Given the description of an element on the screen output the (x, y) to click on. 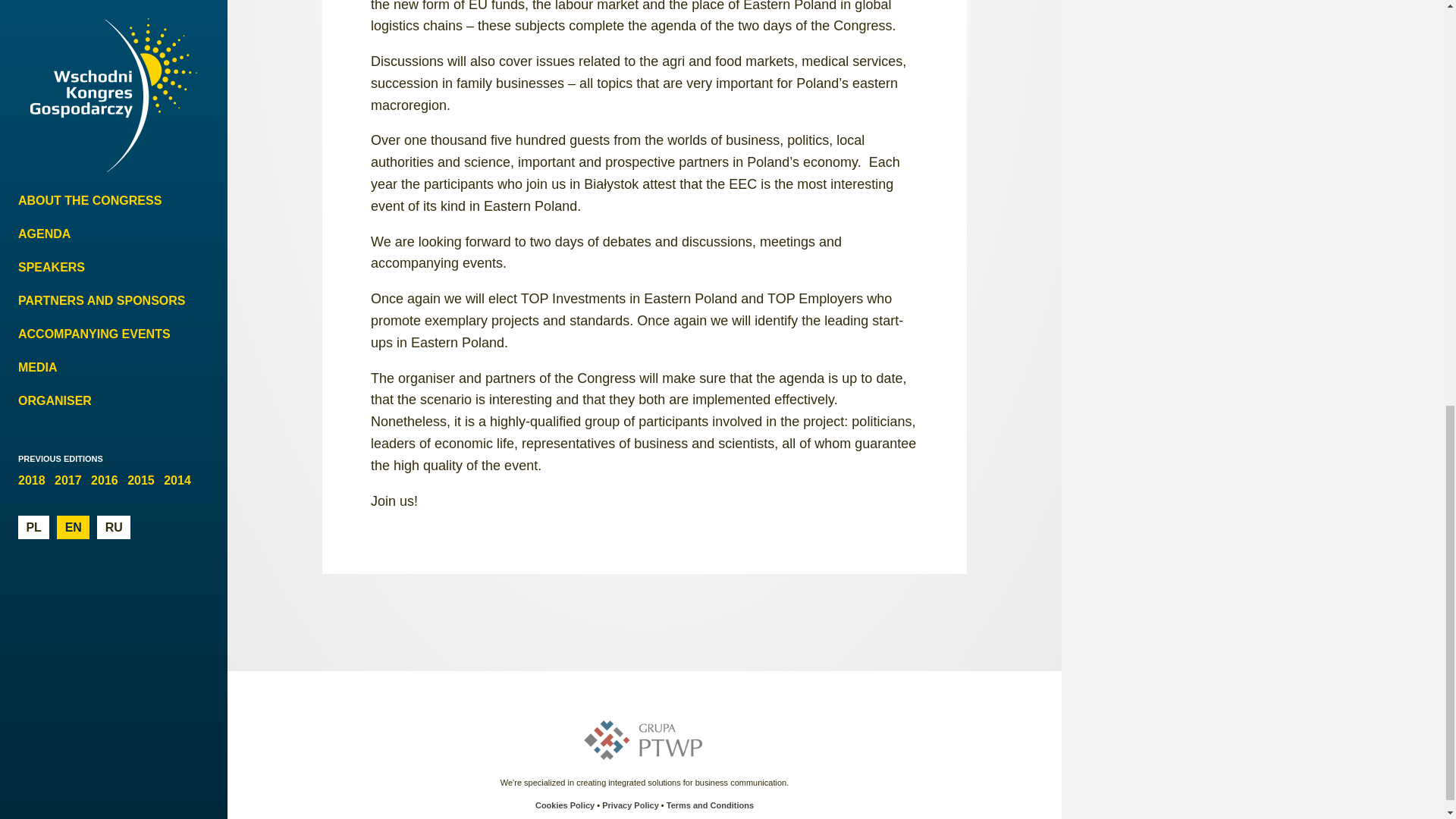
Cookies Policy (564, 804)
Terms and Conditions (710, 804)
Privacy Policy (630, 804)
